Given the description of an element on the screen output the (x, y) to click on. 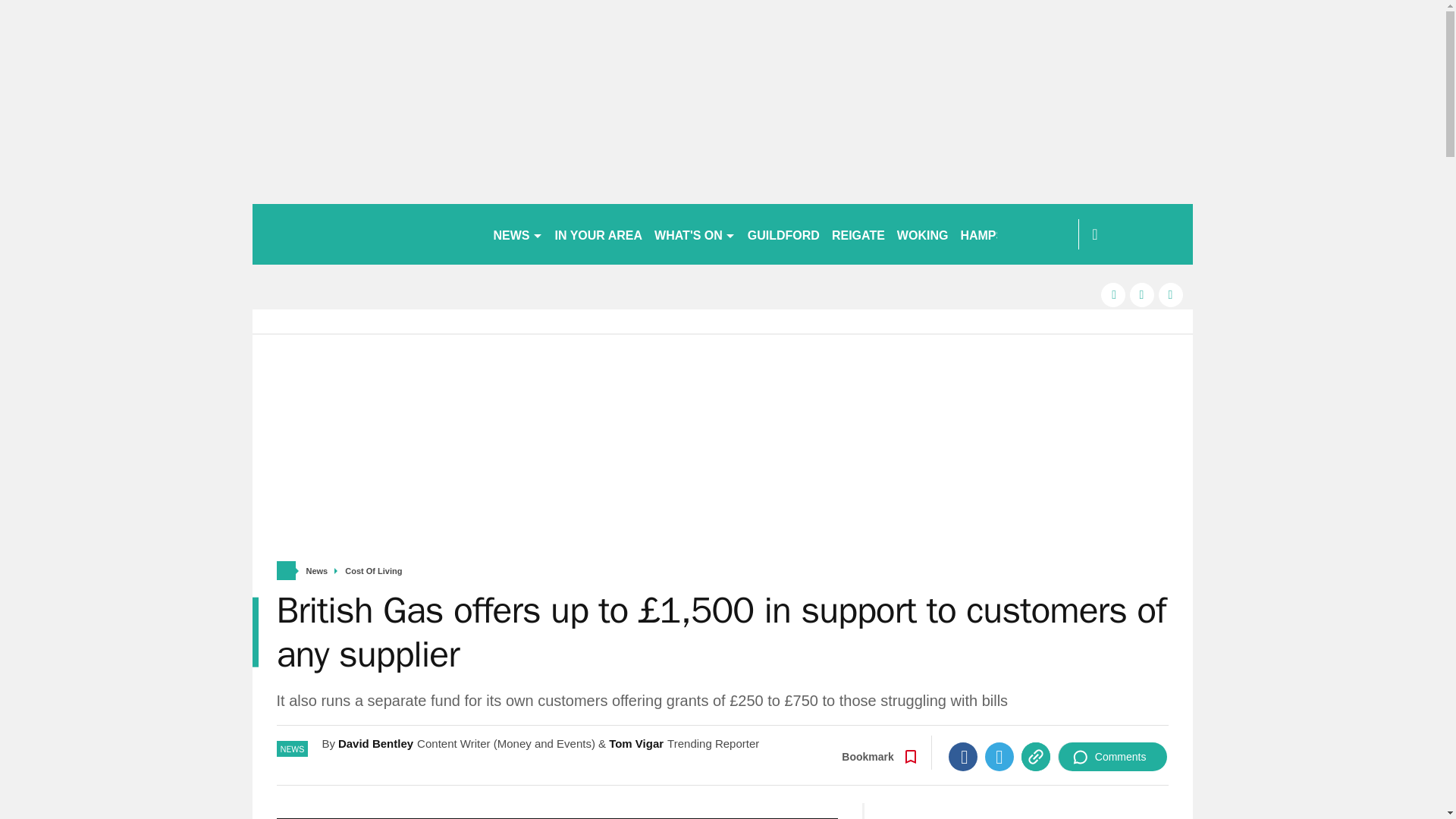
Twitter (999, 756)
GUILDFORD (783, 233)
WOKING (923, 233)
twitter (1141, 294)
Facebook (962, 756)
HAMPSHIRE (996, 233)
IN YOUR AREA (598, 233)
Comments (1112, 756)
REIGATE (858, 233)
instagram (1170, 294)
facebook (1112, 294)
getsurrey (365, 233)
NEWS (517, 233)
WHAT'S ON (694, 233)
